Given the description of an element on the screen output the (x, y) to click on. 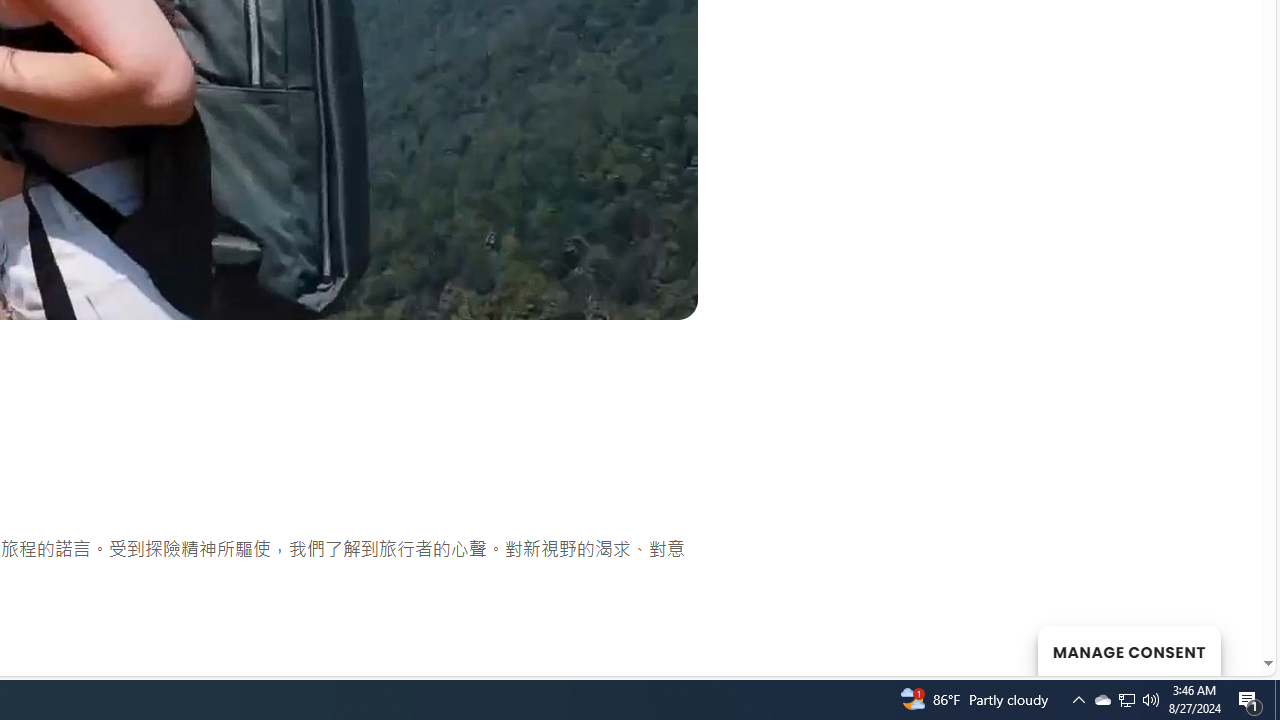
MANAGE CONSENT (1128, 650)
